Given the description of an element on the screen output the (x, y) to click on. 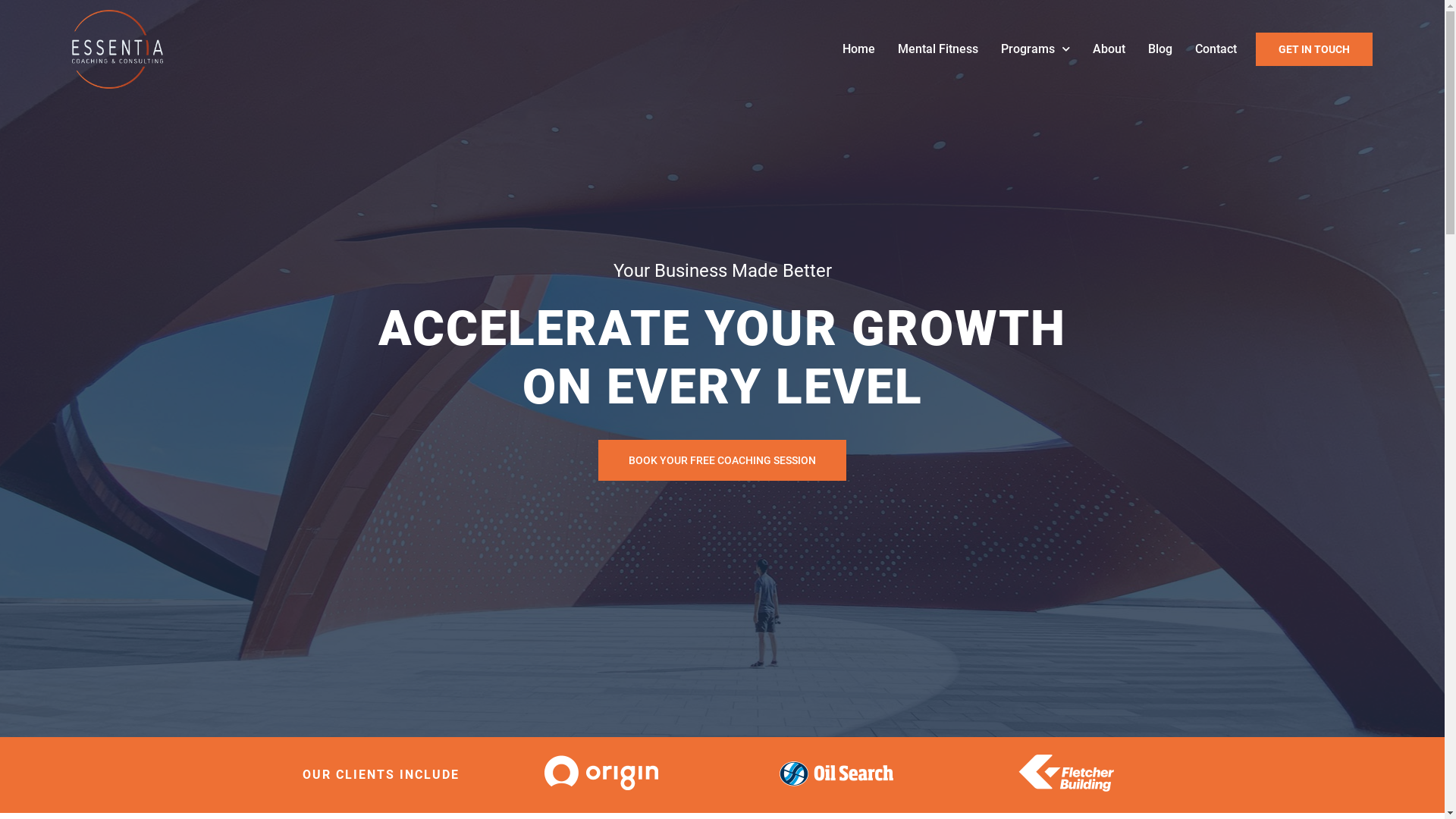
Mental Fitness Element type: text (937, 48)
BOOK YOUR FREE COACHING SESSION Element type: text (722, 459)
Programs Element type: text (1035, 48)
Blog Element type: text (1160, 48)
About Element type: text (1108, 48)
GET IN TOUCH Element type: text (1313, 48)
Home Element type: text (858, 48)
Contact Element type: text (1215, 48)
